Given the description of an element on the screen output the (x, y) to click on. 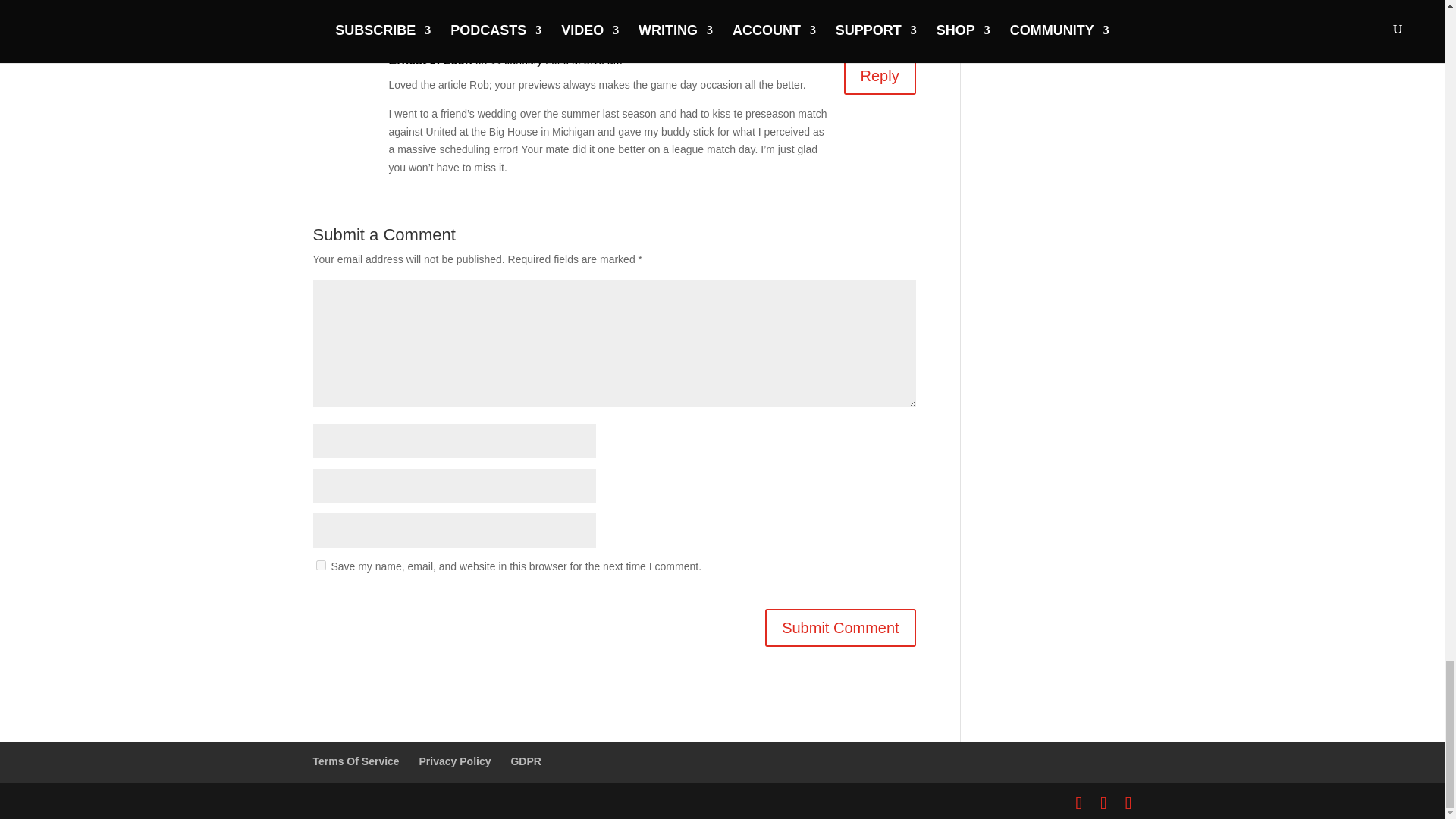
yes (319, 565)
Submit Comment (840, 628)
